Given the description of an element on the screen output the (x, y) to click on. 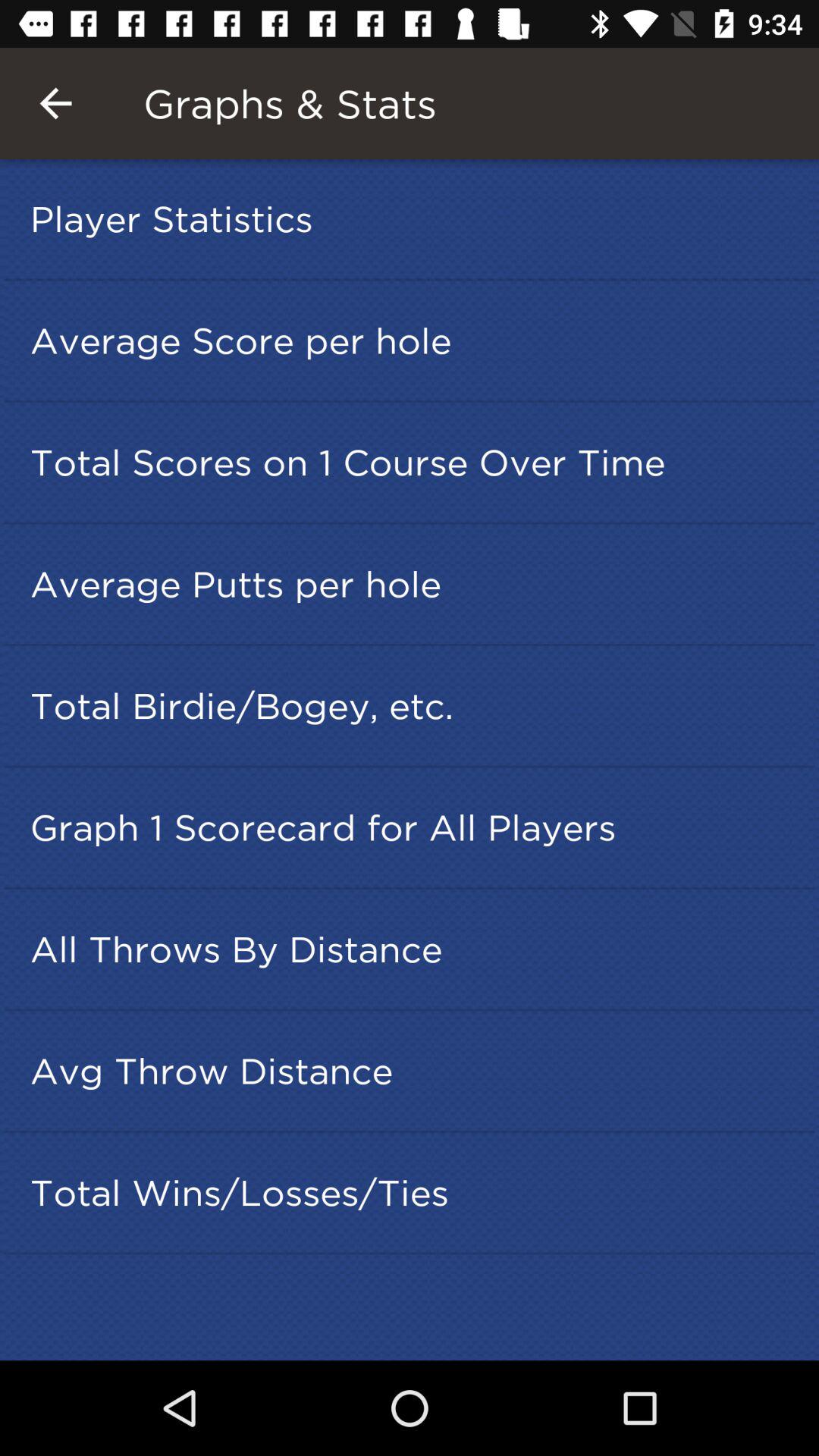
click the icon below the total scores on icon (414, 583)
